Given the description of an element on the screen output the (x, y) to click on. 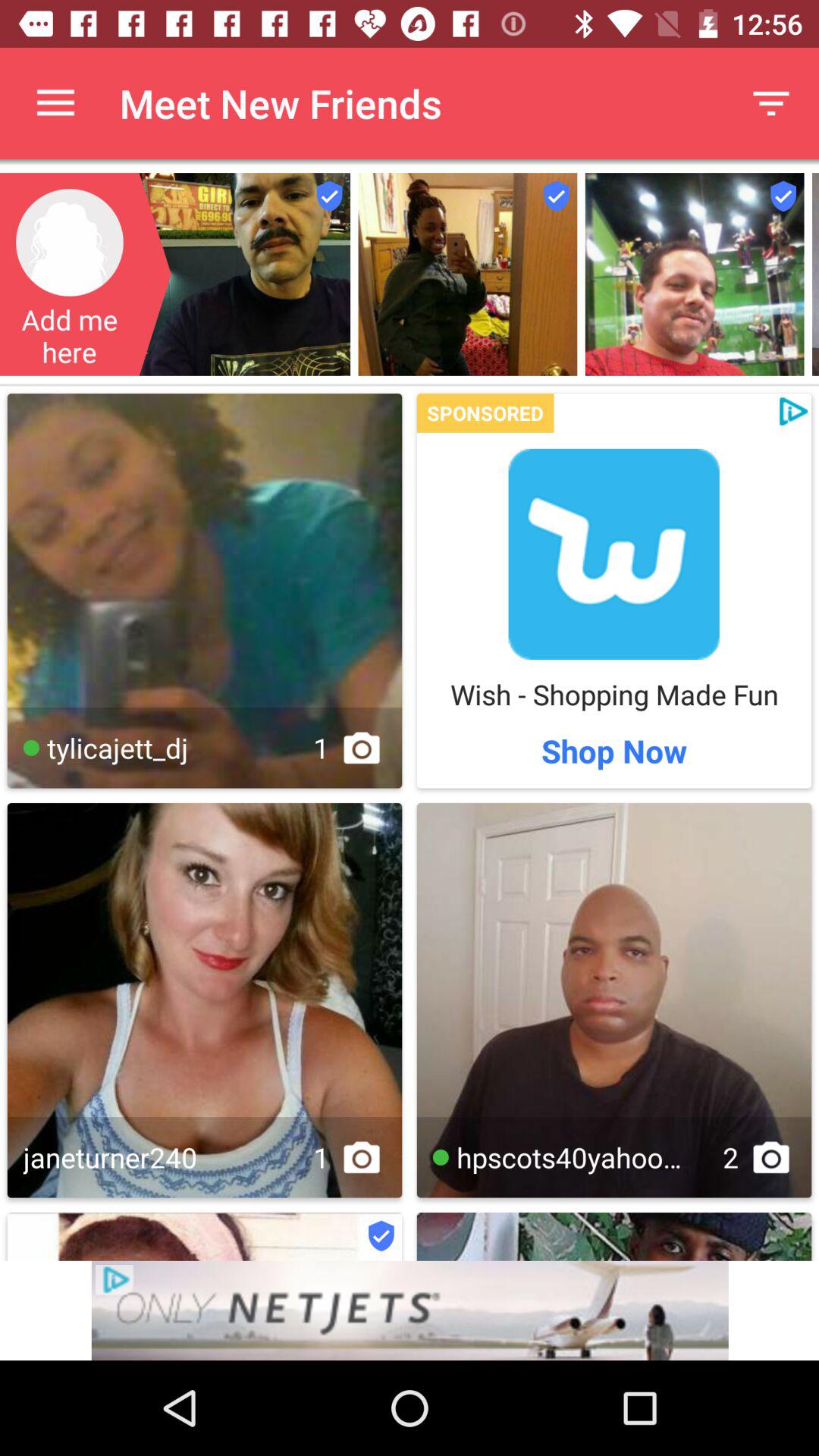
click on add (613, 553)
